Given the description of an element on the screen output the (x, y) to click on. 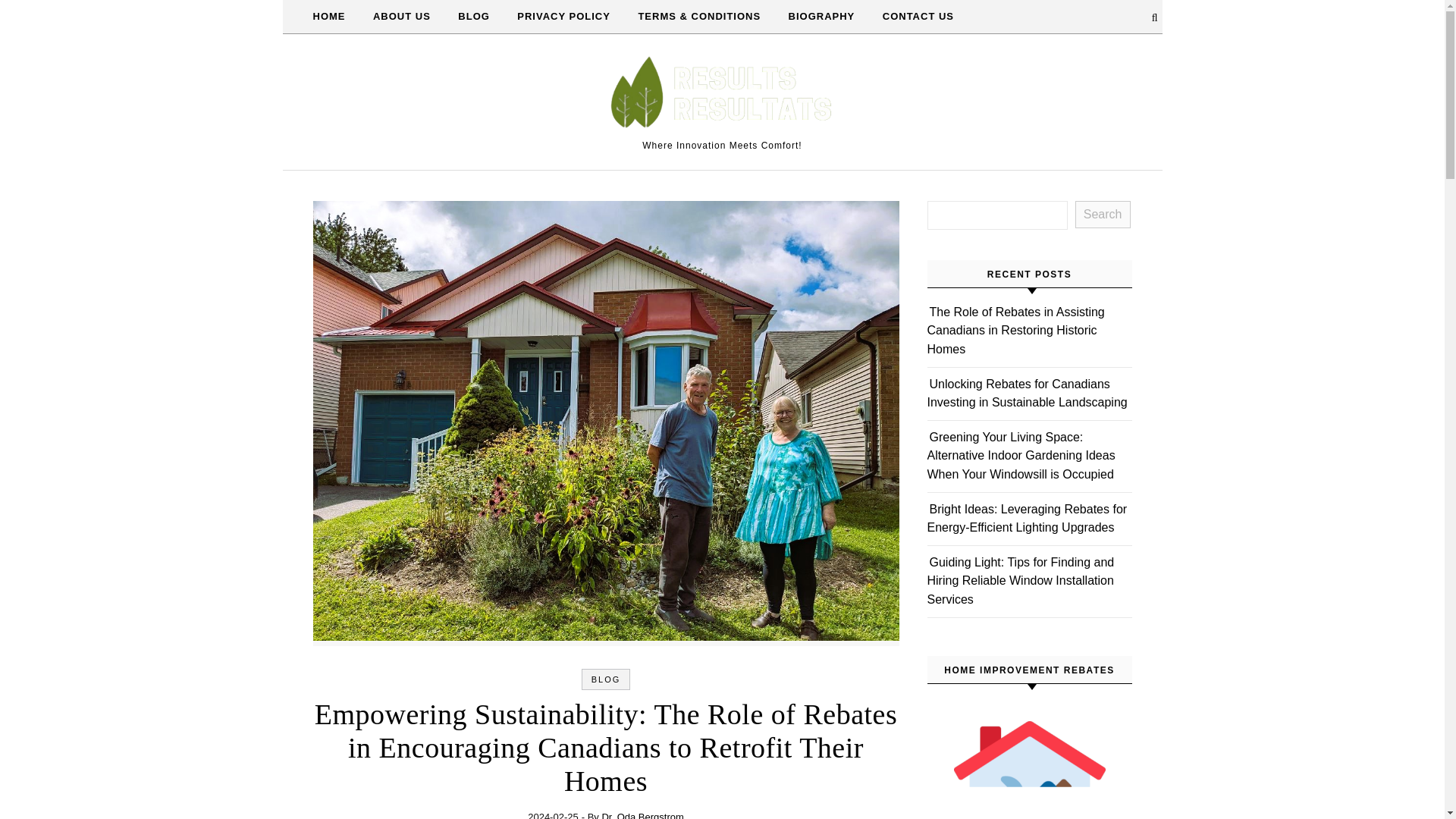
Dr. Oda Bergstrom (641, 815)
Results-Resultats (721, 95)
Posts by Dr. Oda Bergstrom (641, 815)
CONTACT US (911, 16)
PRIVACY POLICY (564, 16)
BLOG (473, 16)
BIOGRAPHY (821, 16)
